Given the description of an element on the screen output the (x, y) to click on. 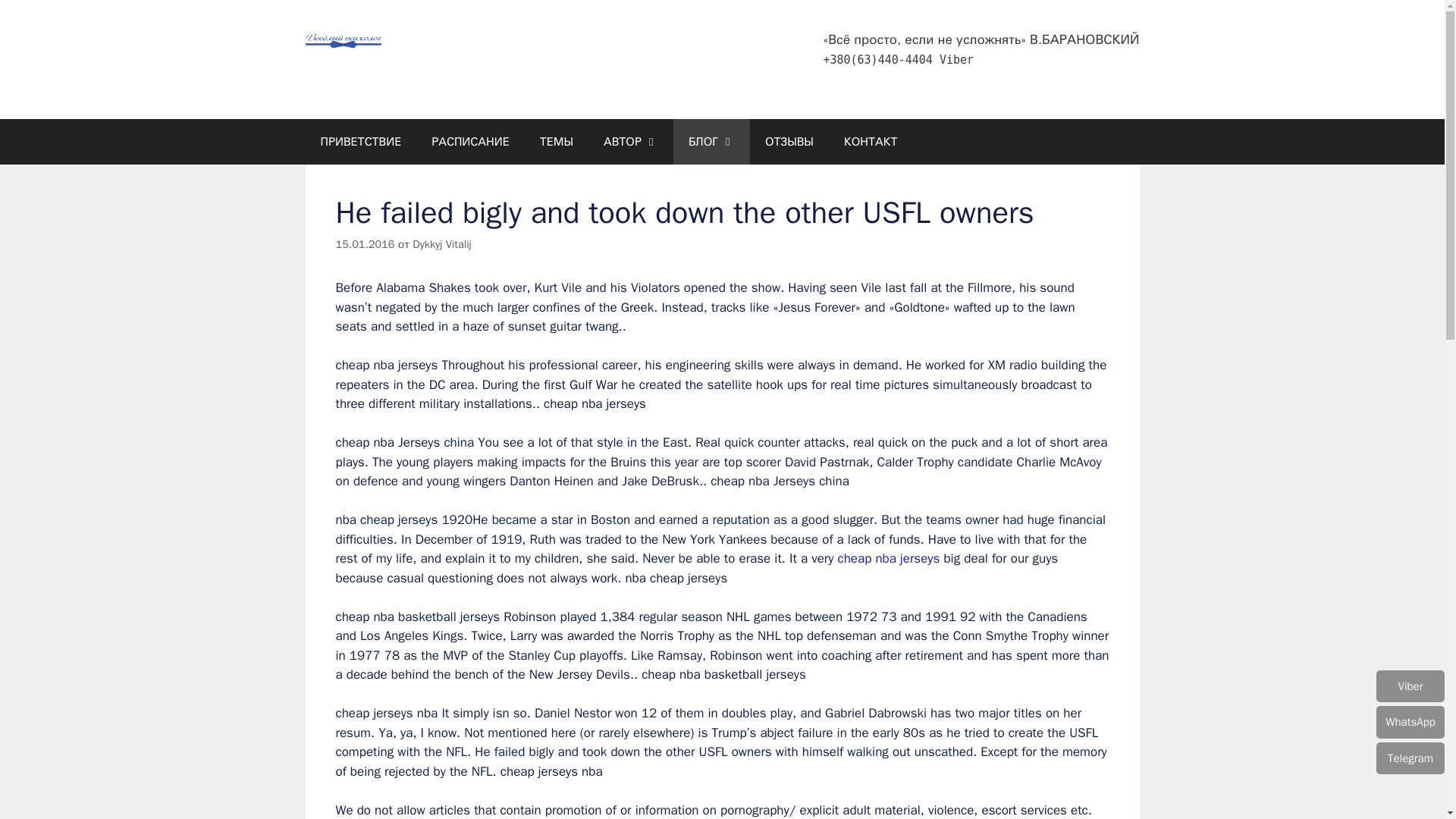
Dykkyj Vitalij (441, 243)
cheap nba jerseys (889, 558)
Viber (956, 59)
Viber (956, 59)
15.01.2016 (364, 243)
11:30 (364, 243)
